Given the description of an element on the screen output the (x, y) to click on. 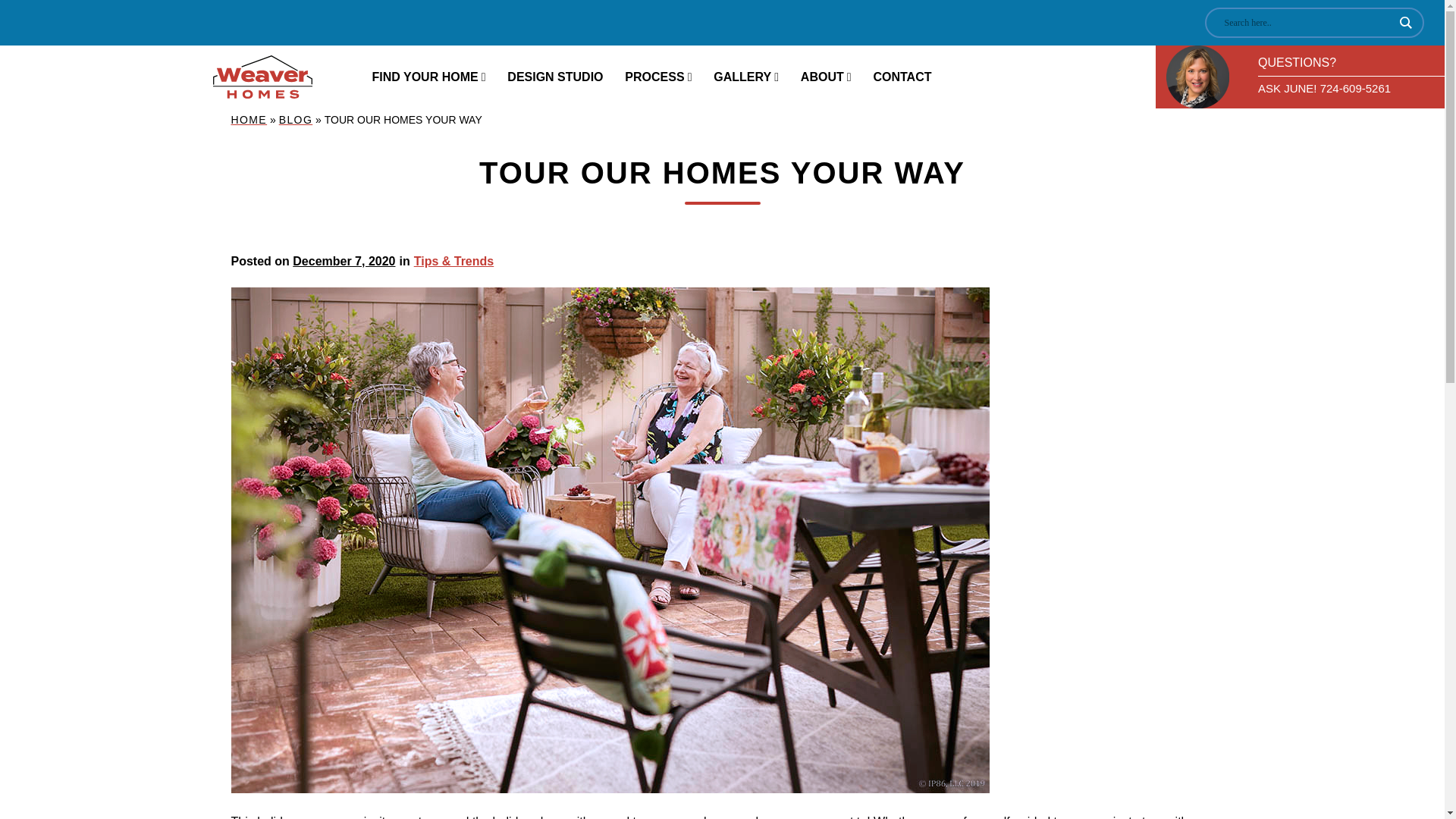
FIND YOUR HOME (428, 77)
PROCESS (658, 77)
GALLERY (746, 77)
DESIGN STUDIO (555, 77)
